Given the description of an element on the screen output the (x, y) to click on. 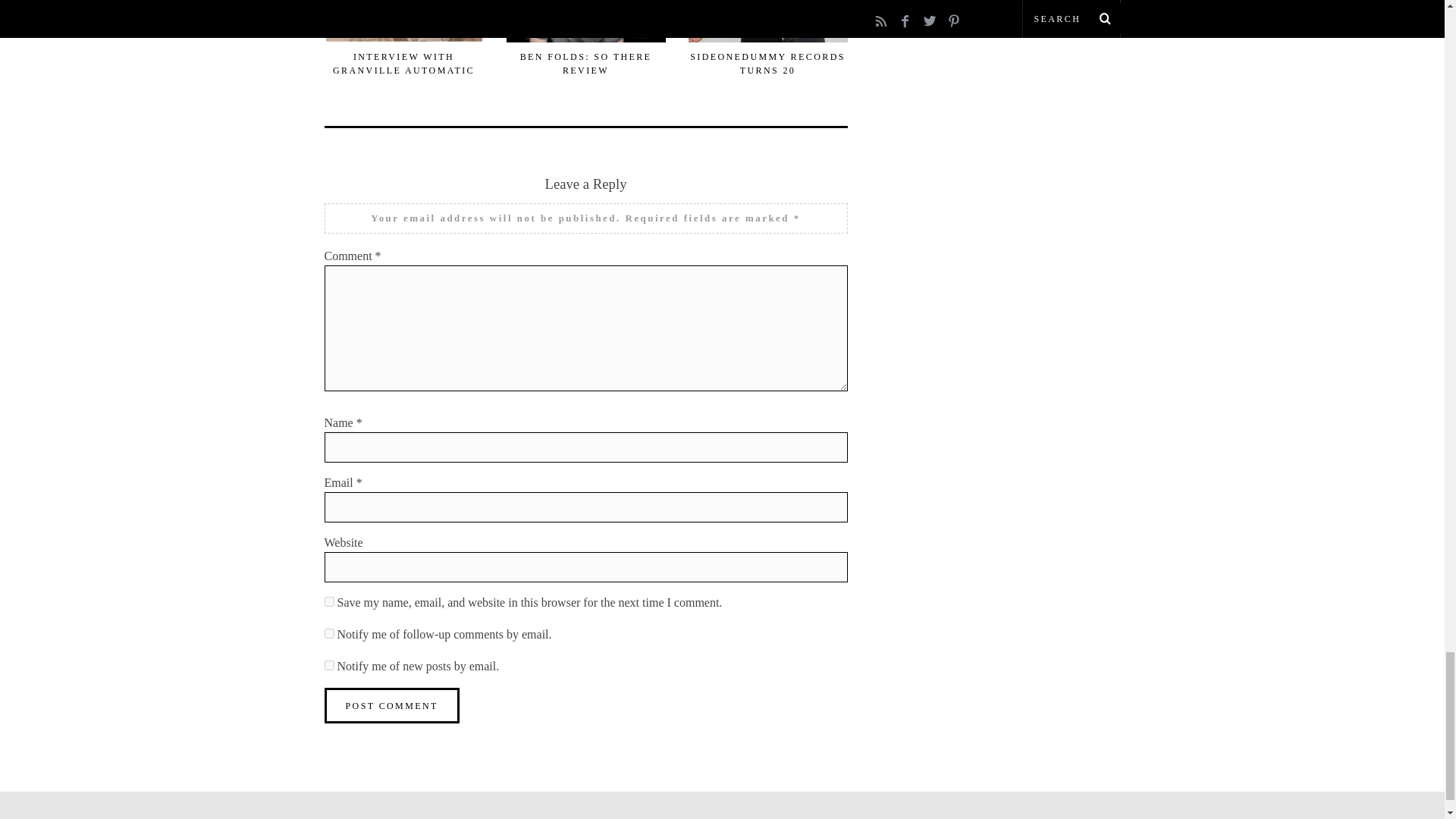
yes (329, 601)
subscribe (329, 664)
subscribe (329, 633)
Post Comment (392, 704)
